Given the description of an element on the screen output the (x, y) to click on. 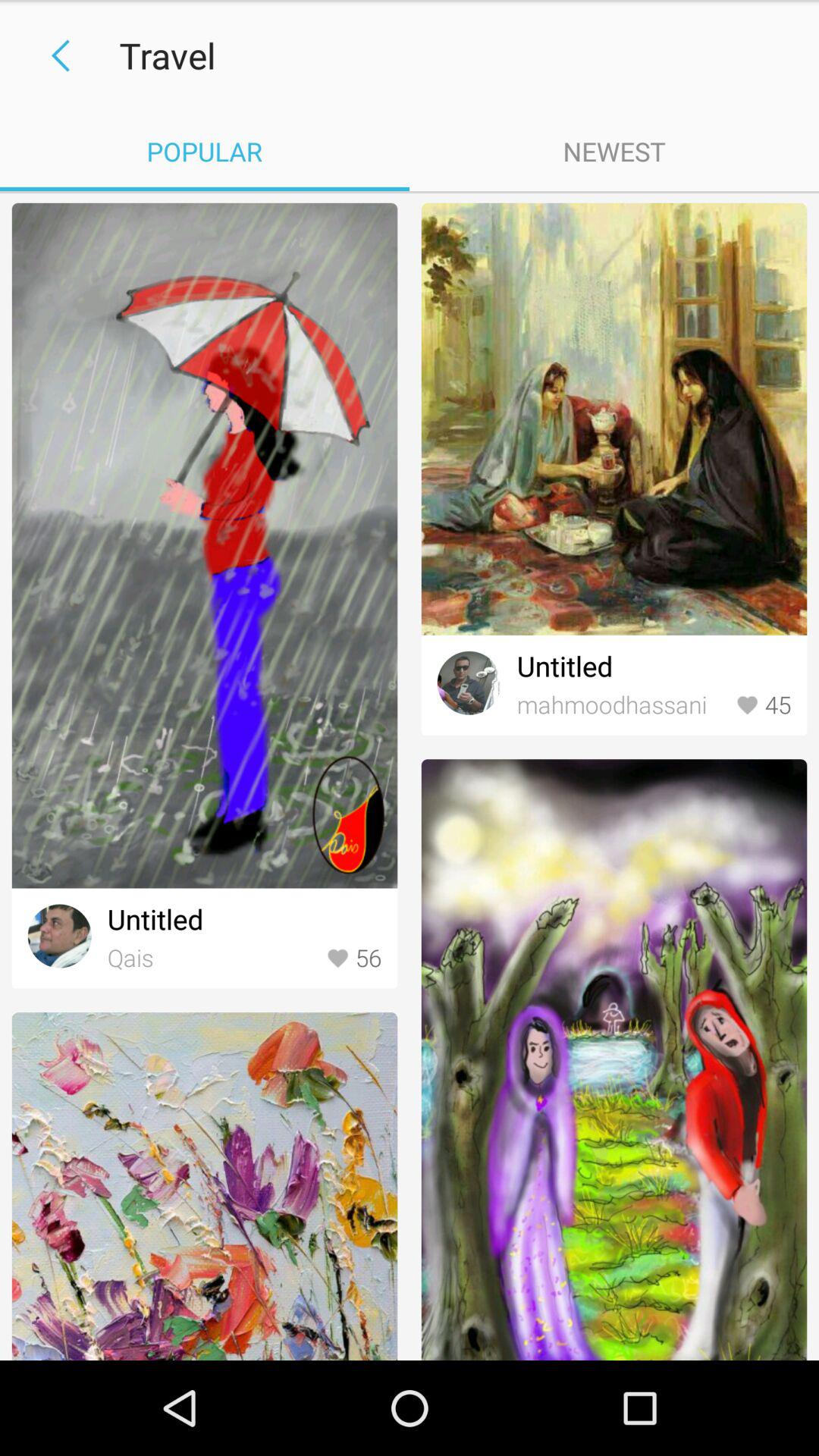
launch mahmoodhassani (622, 705)
